Given the description of an element on the screen output the (x, y) to click on. 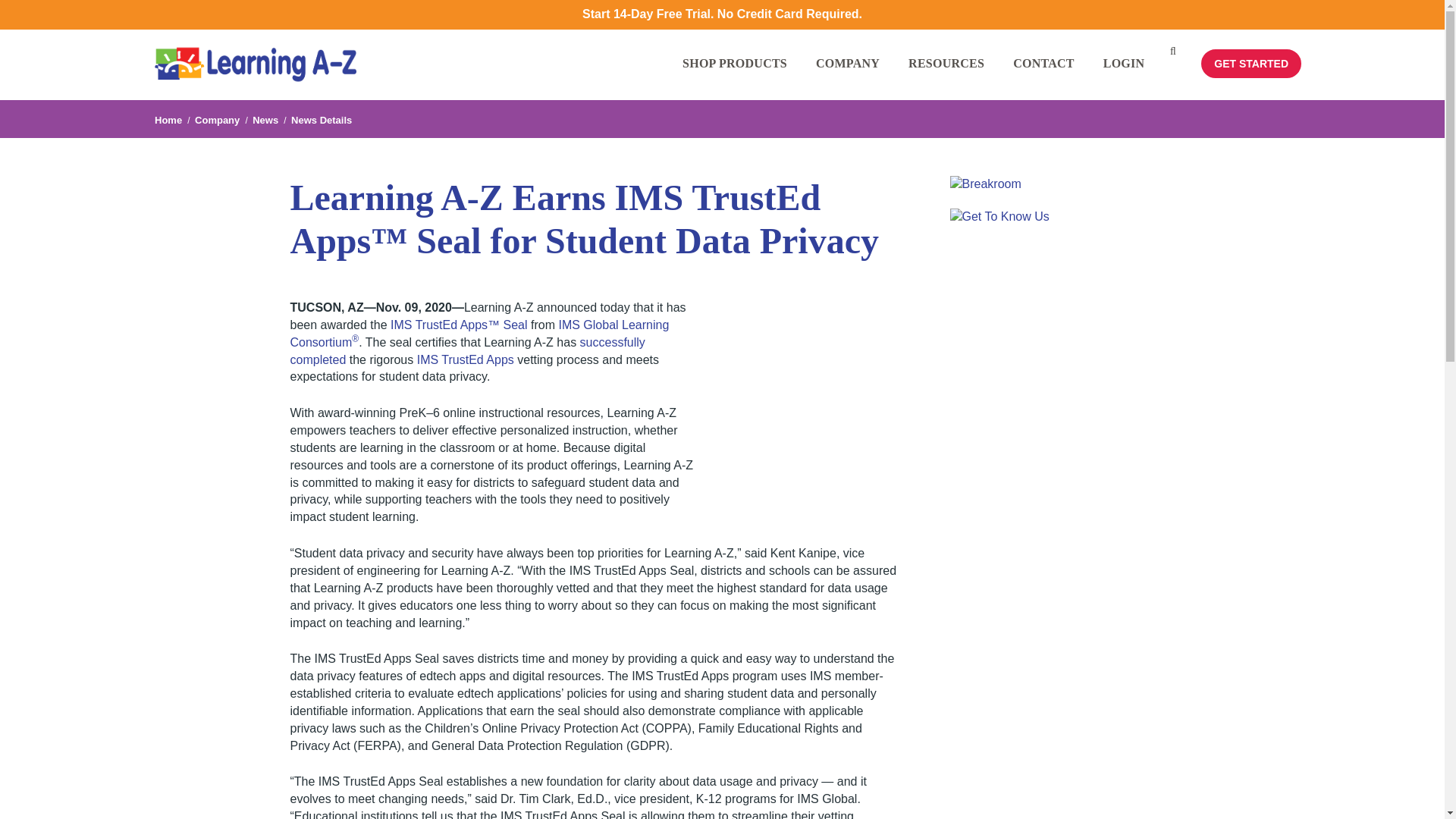
COMPANY (854, 77)
RESOURCES (952, 77)
SHOP PRODUCTS (741, 77)
